Given the description of an element on the screen output the (x, y) to click on. 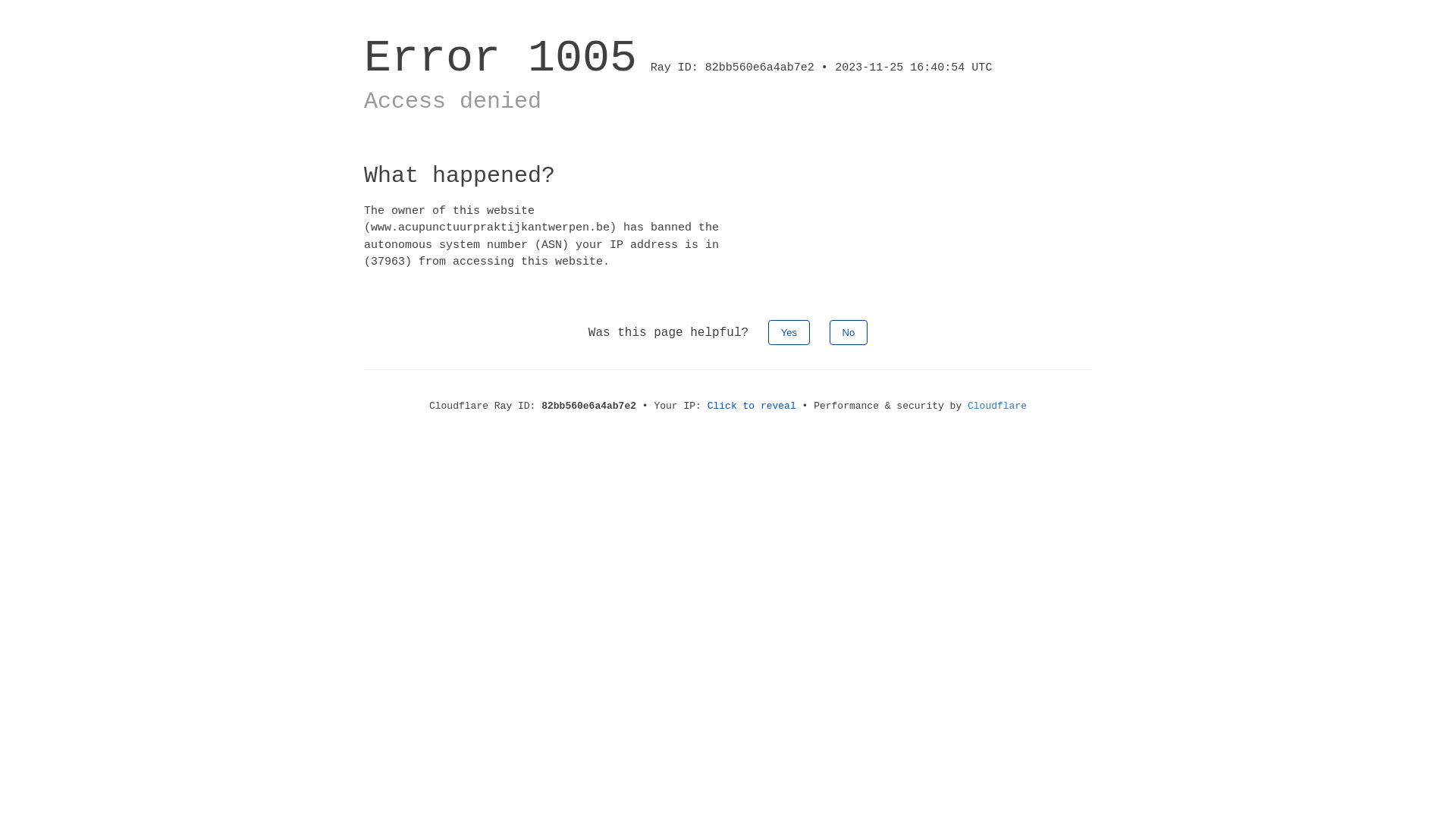
Click to reveal Element type: text (751, 405)
No Element type: text (848, 332)
Yes Element type: text (788, 332)
Cloudflare Element type: text (996, 405)
